Given the description of an element on the screen output the (x, y) to click on. 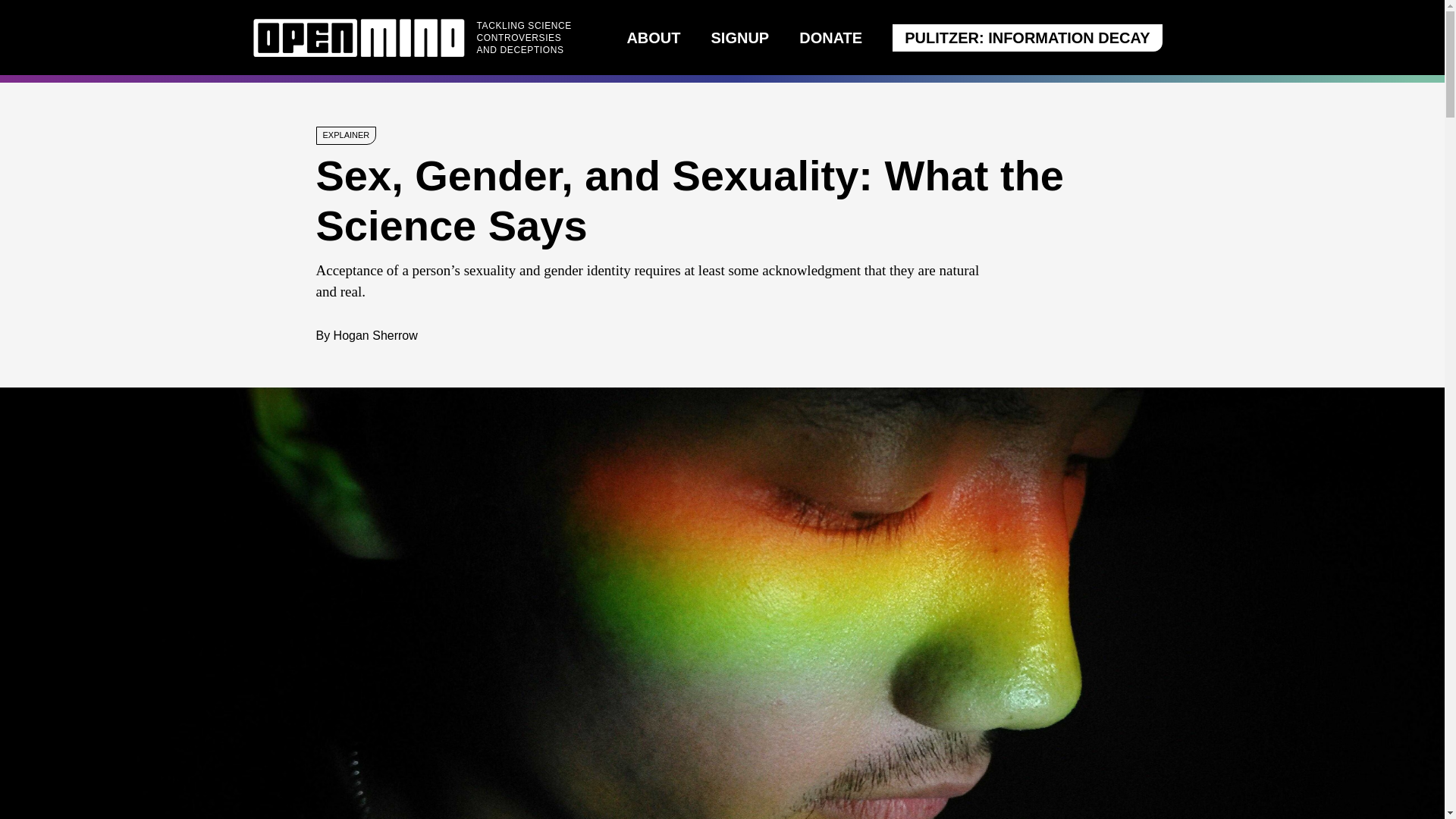
DONATE (830, 37)
SIGNUP (740, 37)
ABOUT (652, 37)
PULITZER: INFORMATION DECAY (1026, 37)
